Given the description of an element on the screen output the (x, y) to click on. 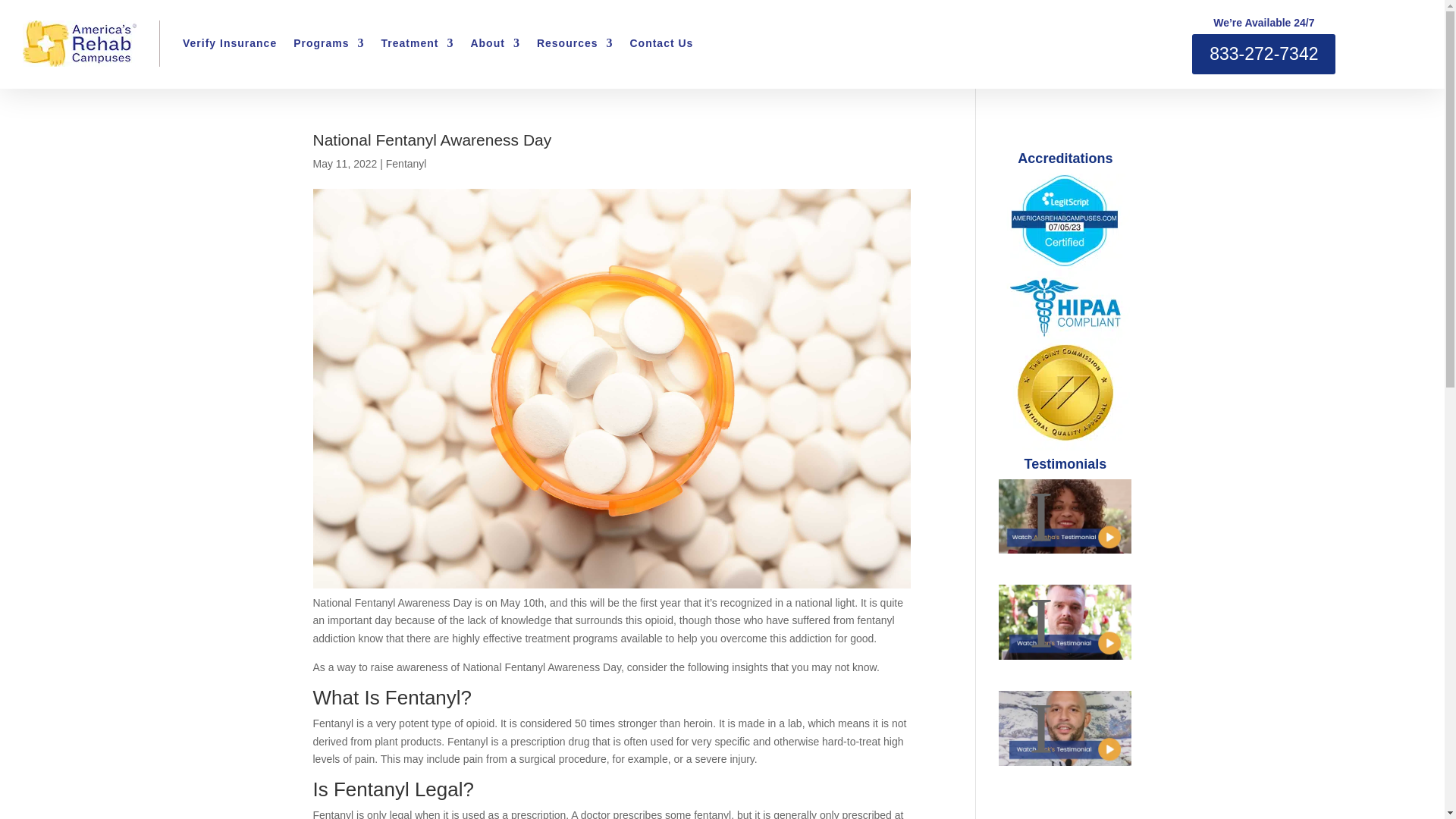
Our Programs (329, 43)
Resources (574, 43)
Contact Us (660, 43)
Verify Insurance (229, 43)
What We Treat (417, 43)
Programs (329, 43)
Treatment (417, 43)
Verify Insurance (229, 43)
